Given the description of an element on the screen output the (x, y) to click on. 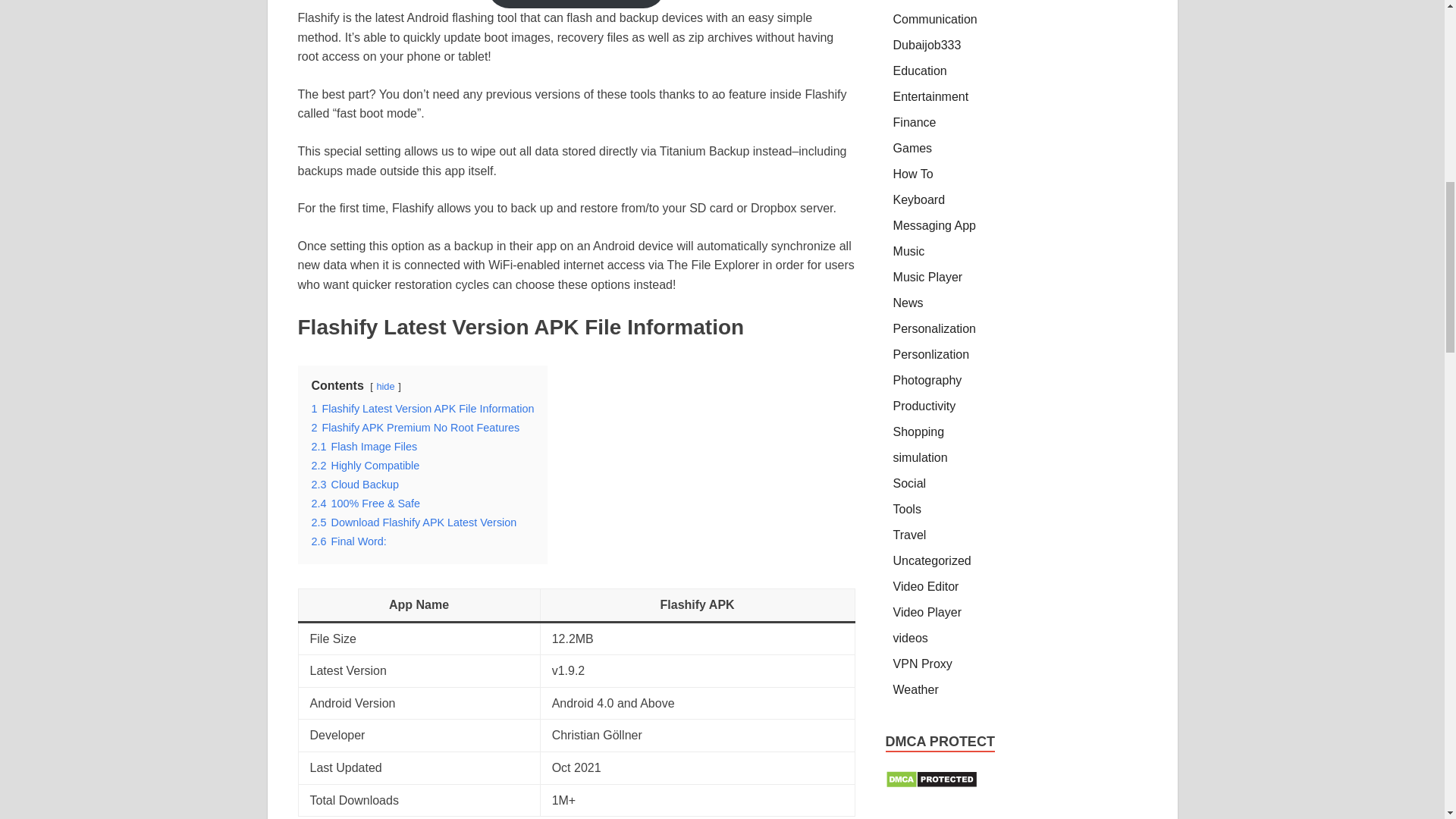
1 Flashify Latest Version APK File Information (422, 408)
DMCA.com Protection Status (930, 784)
2 Flashify APK Premium No Root Features (415, 427)
2.1 Flash Image Files (363, 446)
2.5 Download Flashify APK Latest Version (413, 522)
Download Flashify Apk (576, 4)
2.6 Final Word: (348, 541)
2.3 Cloud Backup (354, 484)
hide (384, 386)
2.2 Highly Compatible (365, 465)
